Given the description of an element on the screen output the (x, y) to click on. 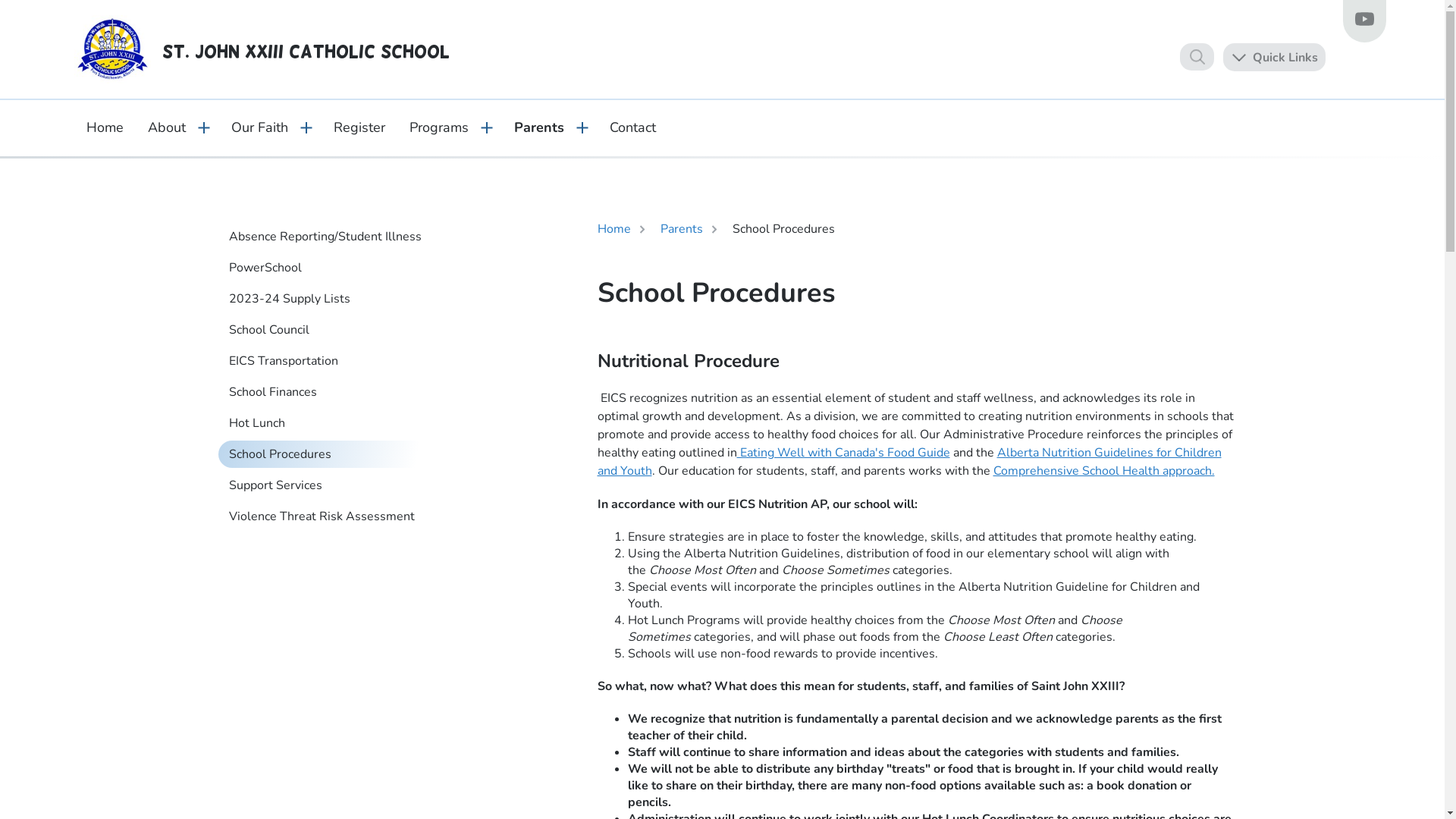
Absence Reporting/Student Illness Element type: text (328, 236)
Parents Element type: text (680, 229)
Contact Element type: text (632, 127)
Home Element type: text (613, 229)
Parents Element type: text (538, 127)
Register Element type: text (359, 127)
Our Faith Element type: text (258, 127)
Comprehensive School Health approach. Element type: text (1103, 470)
Alberta Nutrition Guidelines for Children and Youth Element type: text (909, 461)
EICS Transportation Element type: text (328, 360)
Programs Element type: text (438, 127)
School Finances Element type: text (328, 391)
School Council Element type: text (328, 329)
Support Services Element type: text (328, 484)
Violence Threat Risk Assessment Element type: text (328, 516)
About Element type: text (165, 127)
School Procedures Element type: text (328, 453)
PowerSchool Element type: text (328, 267)
Quick Links Element type: text (1273, 56)
Hot Lunch Element type: text (328, 422)
Home Element type: text (104, 127)
home Element type: hover (112, 49)
YouTube Element type: text (1363, 21)
2023-24 Supply Lists Element type: text (328, 298)
 Eating Well with Canada's Food Guide Element type: text (843, 452)
